Given the description of an element on the screen output the (x, y) to click on. 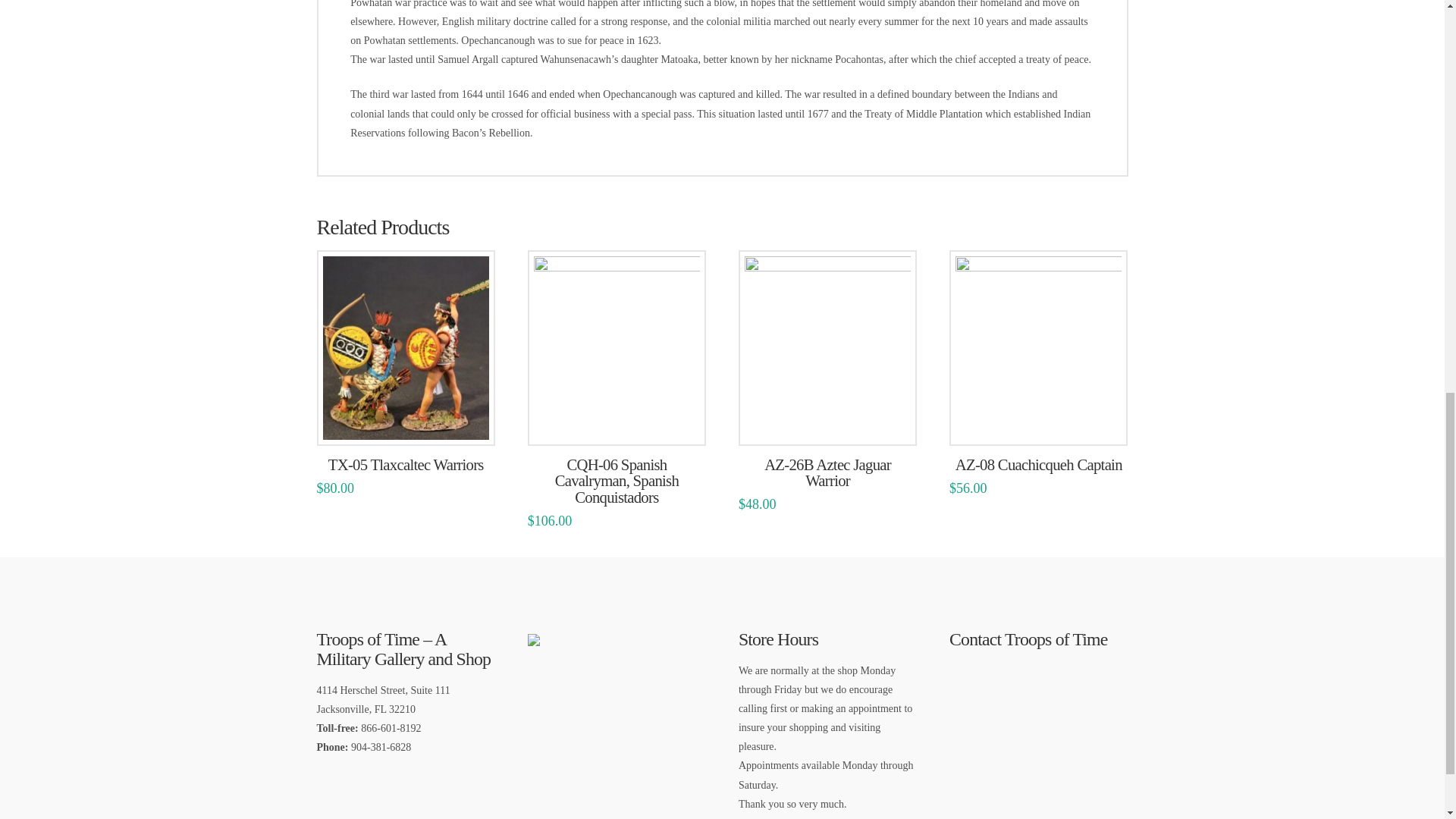
AZ-26B Aztec Jaguar Warrior (827, 472)
AZ-08 Cuachicqueh Captain (1038, 464)
CQH-06 Spanish Cavalryman, Spanish Conquistadors (616, 481)
TX-05 Tlaxcaltec Warriors (406, 464)
